Given the description of an element on the screen output the (x, y) to click on. 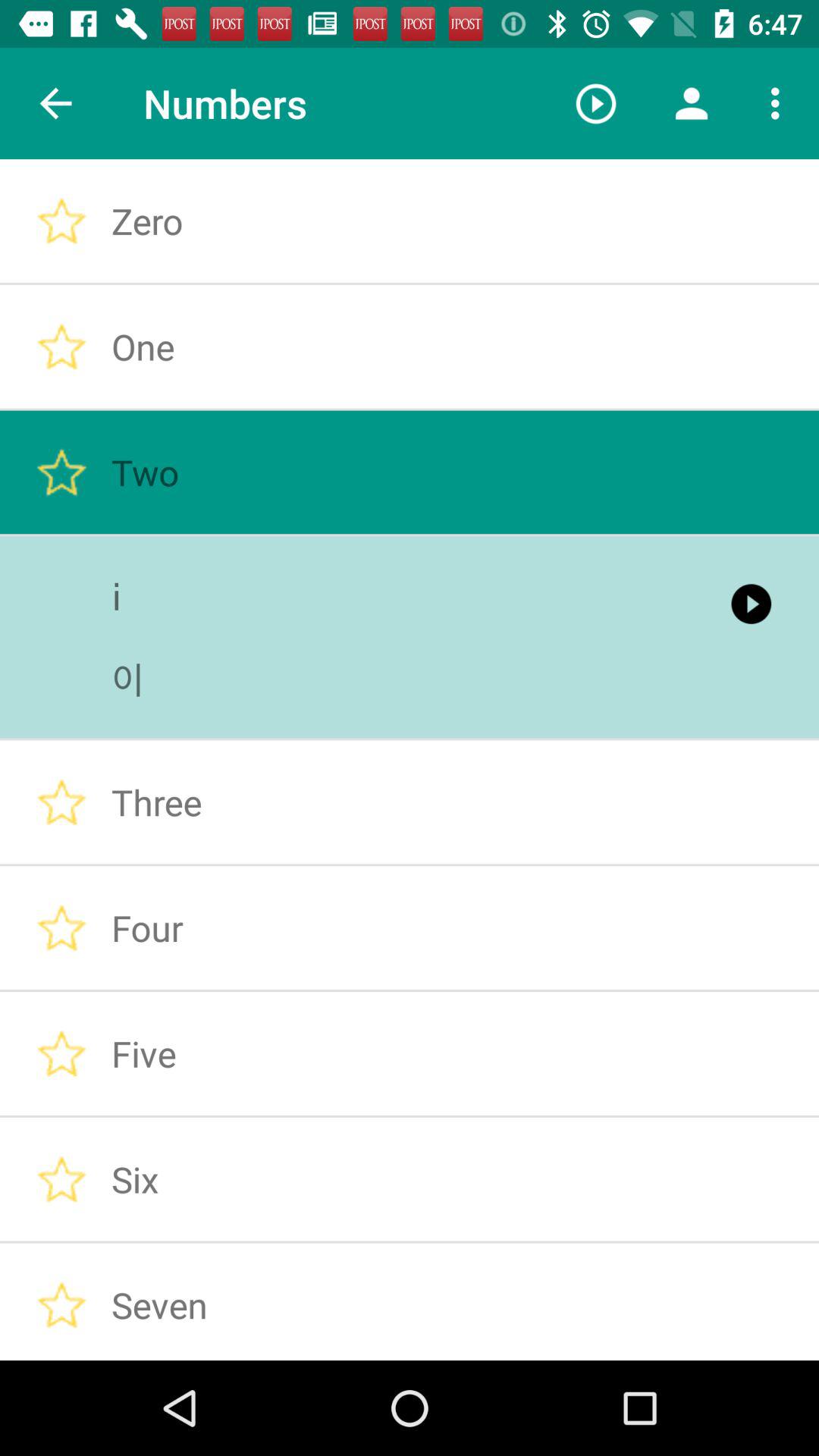
press the item next to the numbers (55, 103)
